Given the description of an element on the screen output the (x, y) to click on. 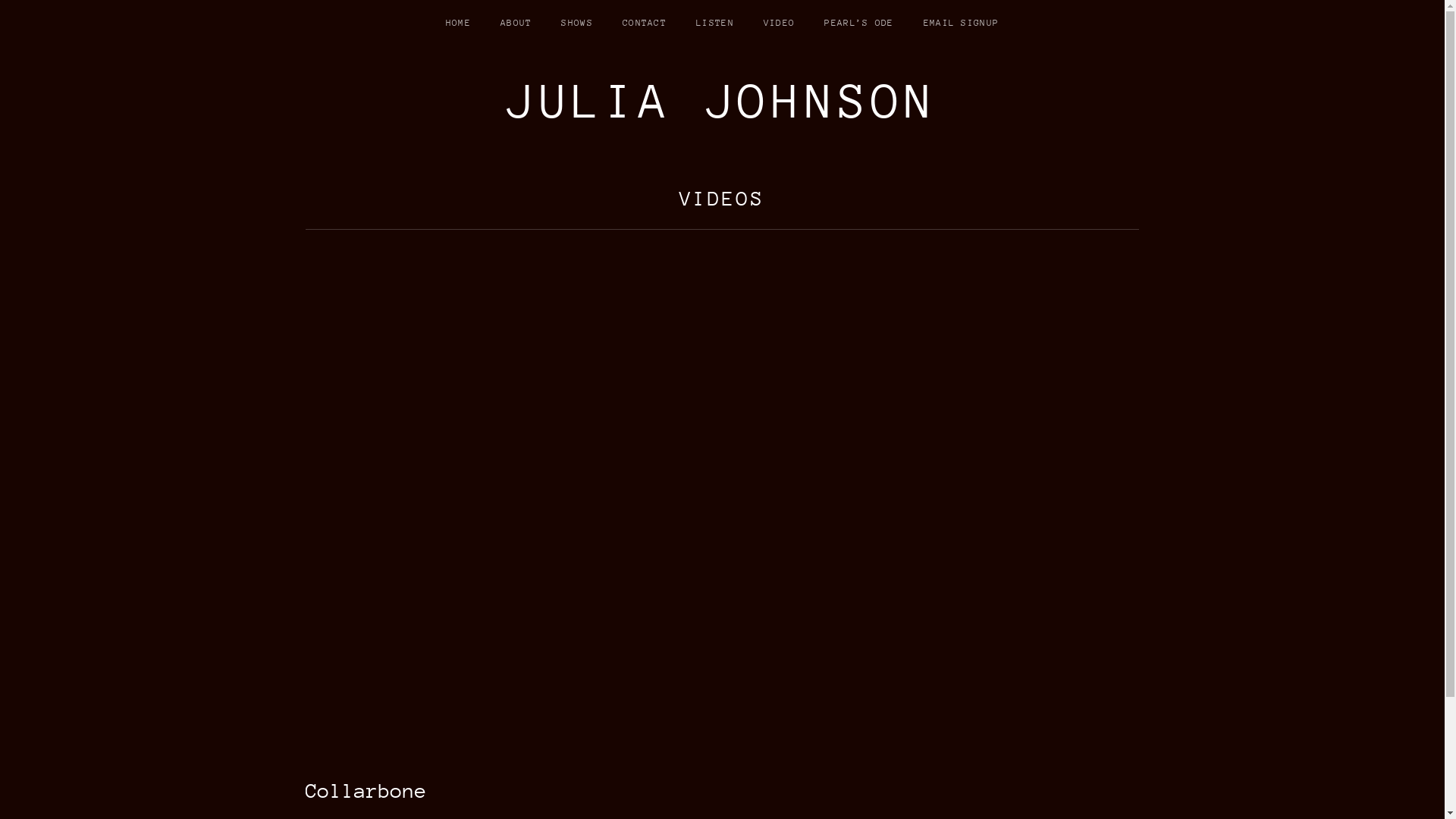
ABOUT Element type: text (516, 22)
CONTACT Element type: text (644, 22)
VIDEO Element type: text (779, 22)
SHOWS Element type: text (577, 22)
EMAIL SIGNUP Element type: text (961, 22)
VIDEOS Element type: text (722, 198)
JULIA JOHNSON Element type: text (722, 101)
LISTEN Element type: text (715, 22)
HOME Element type: text (458, 22)
